Given the description of an element on the screen output the (x, y) to click on. 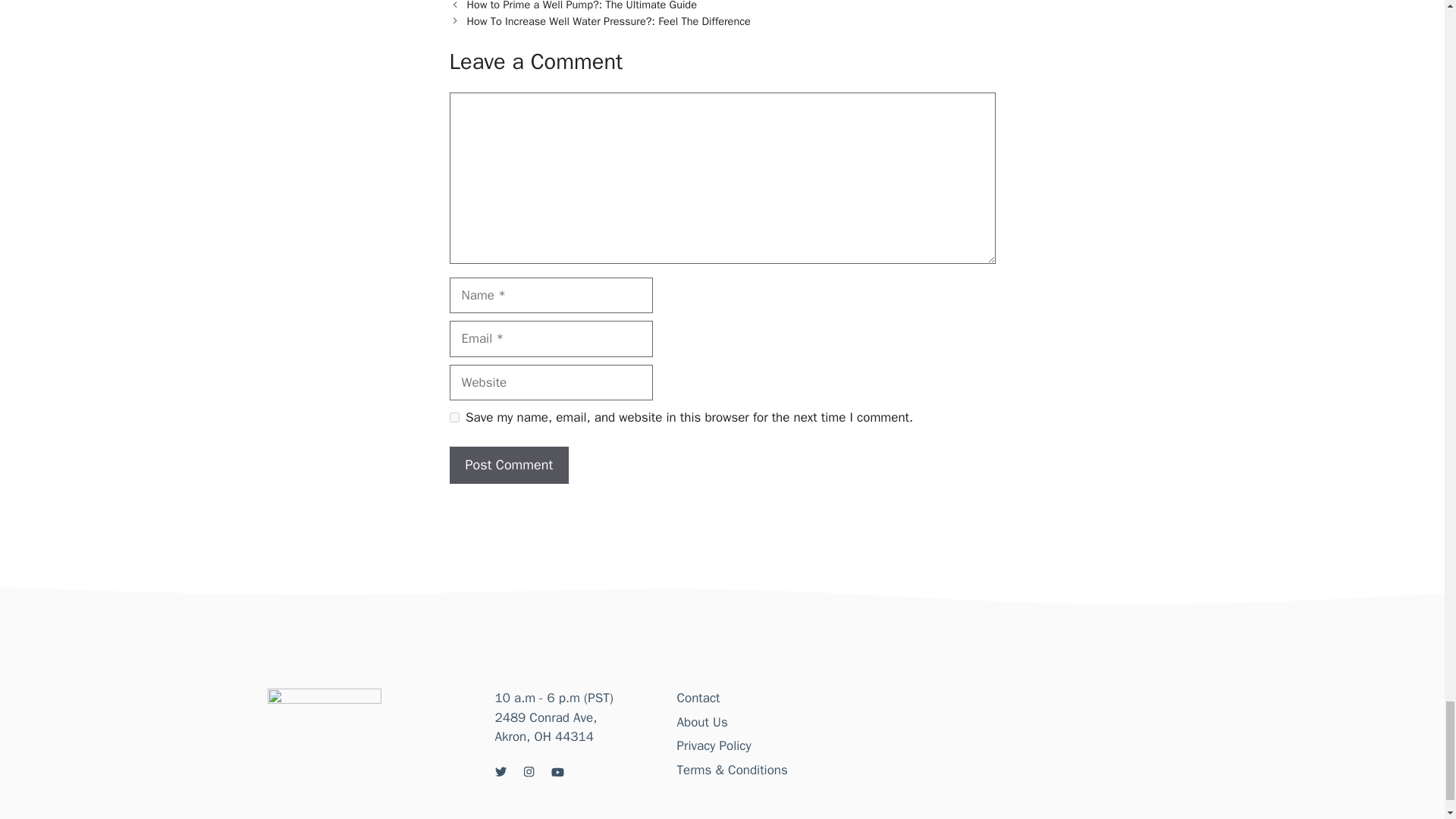
About Us (701, 722)
yes (453, 417)
Post Comment (508, 465)
How to Prime a Well Pump?: The Ultimate Guide (582, 5)
Previous (582, 5)
Contact (698, 697)
Privacy Policy (714, 745)
Next (609, 20)
Post Comment (508, 465)
How To Increase Well Water Pressure?: Feel The Difference (609, 20)
